Given the description of an element on the screen output the (x, y) to click on. 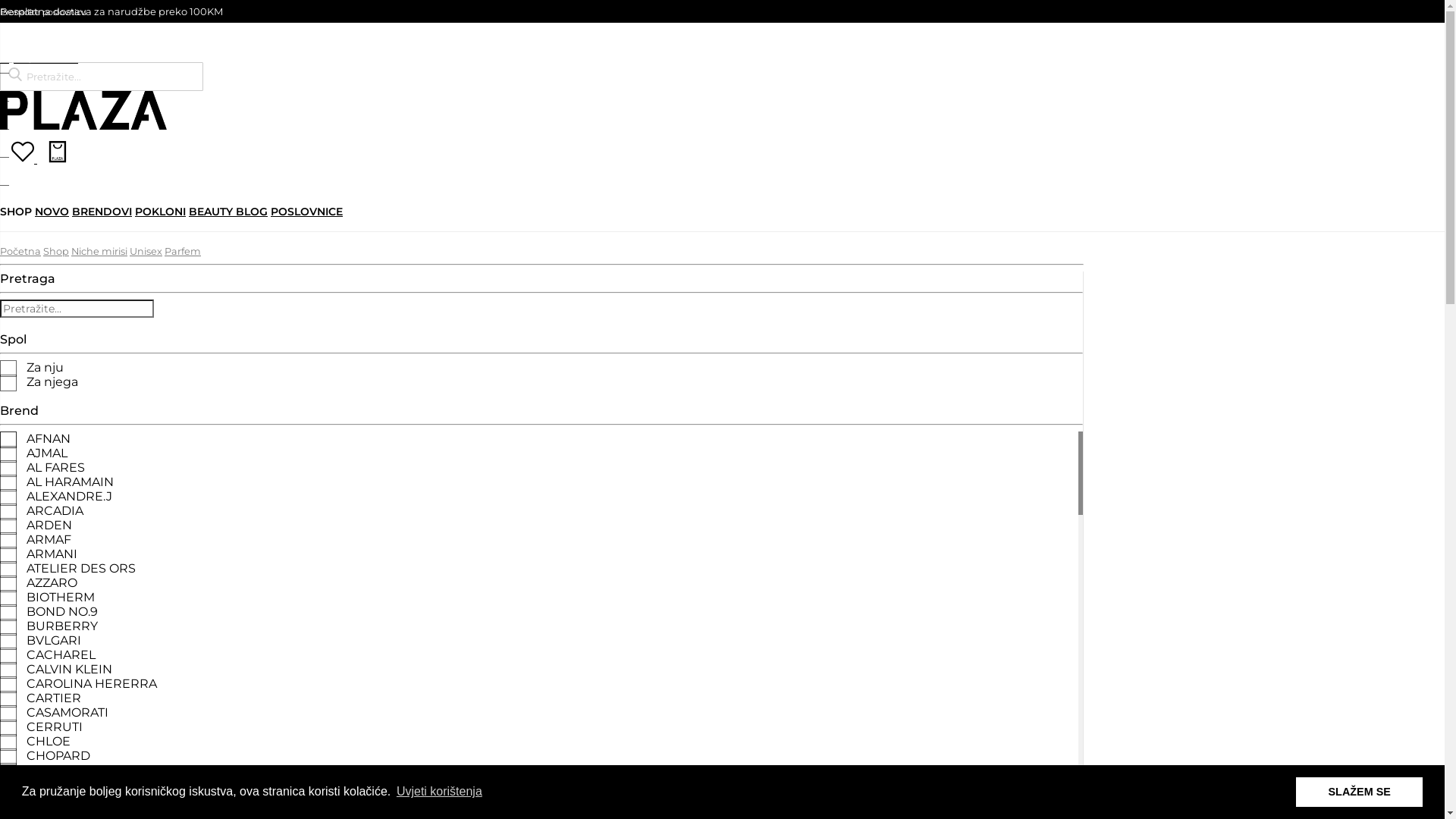
Niche mirisi Element type: text (99, 251)
BRENDOVI Element type: text (101, 211)
NOVO Element type: text (51, 211)
POSLOVNICE Element type: text (306, 211)
Unisex Element type: text (145, 251)
BEAUTY BLOG Element type: text (227, 211)
Parfem Element type: text (182, 251)
POKLONI Element type: text (159, 211)
Shop Element type: text (56, 251)
